Given the description of an element on the screen output the (x, y) to click on. 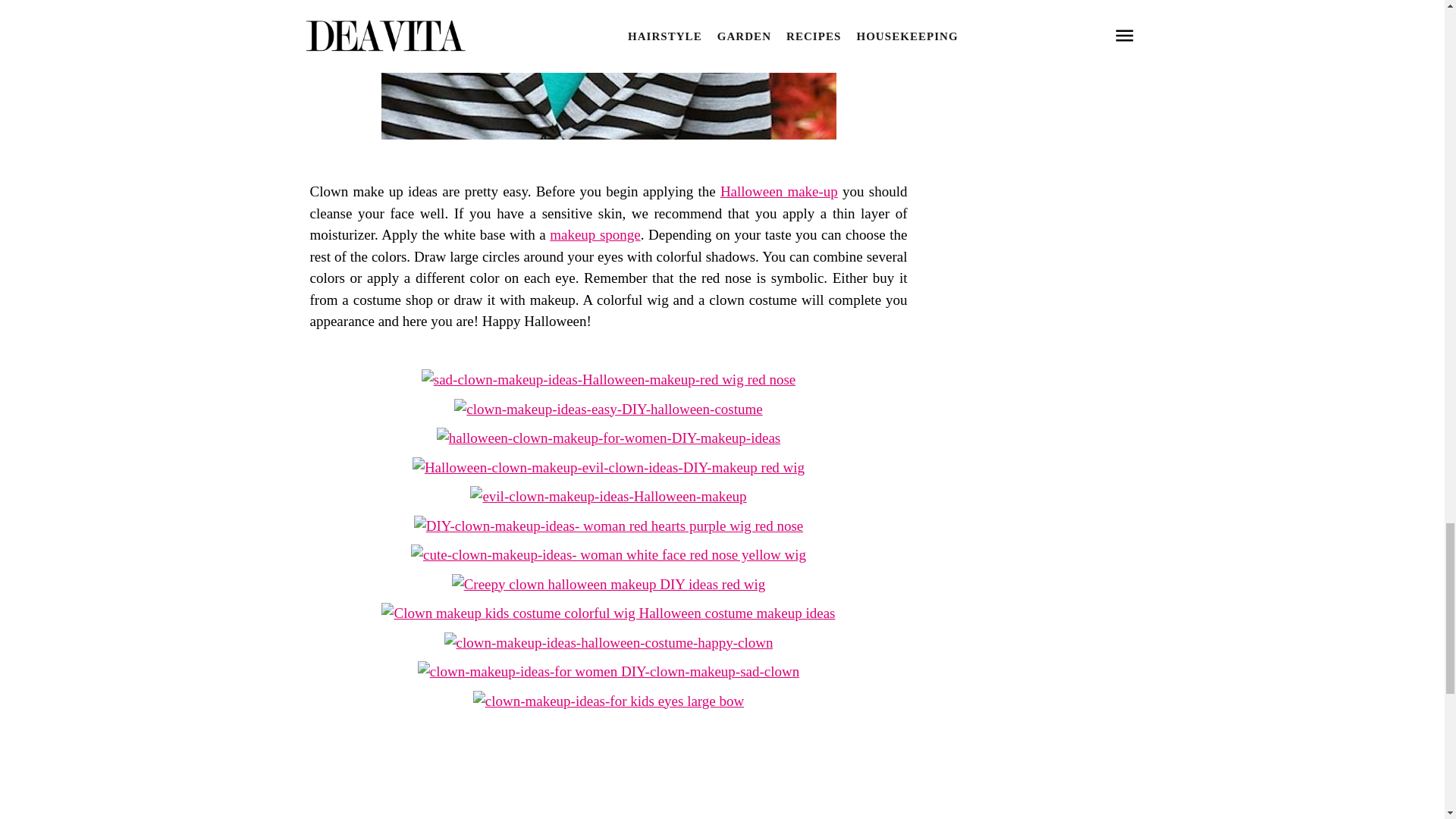
Halloween-clown-makeup-evil-clown-ideas-DIY-makeup red wig (608, 467)
Clown-makeup-ideas-easy-DIY-halloween-costume (607, 408)
Halloween-clown-makeup-for-women-DIY-makeup-ideas  (608, 437)
DIY-clown-makeup-halloween-makeup-ideas easy makeup (607, 162)
Sad-clown-makeup-ideas-Halloween-makeup-red wig red nose (608, 379)
